Given the description of an element on the screen output the (x, y) to click on. 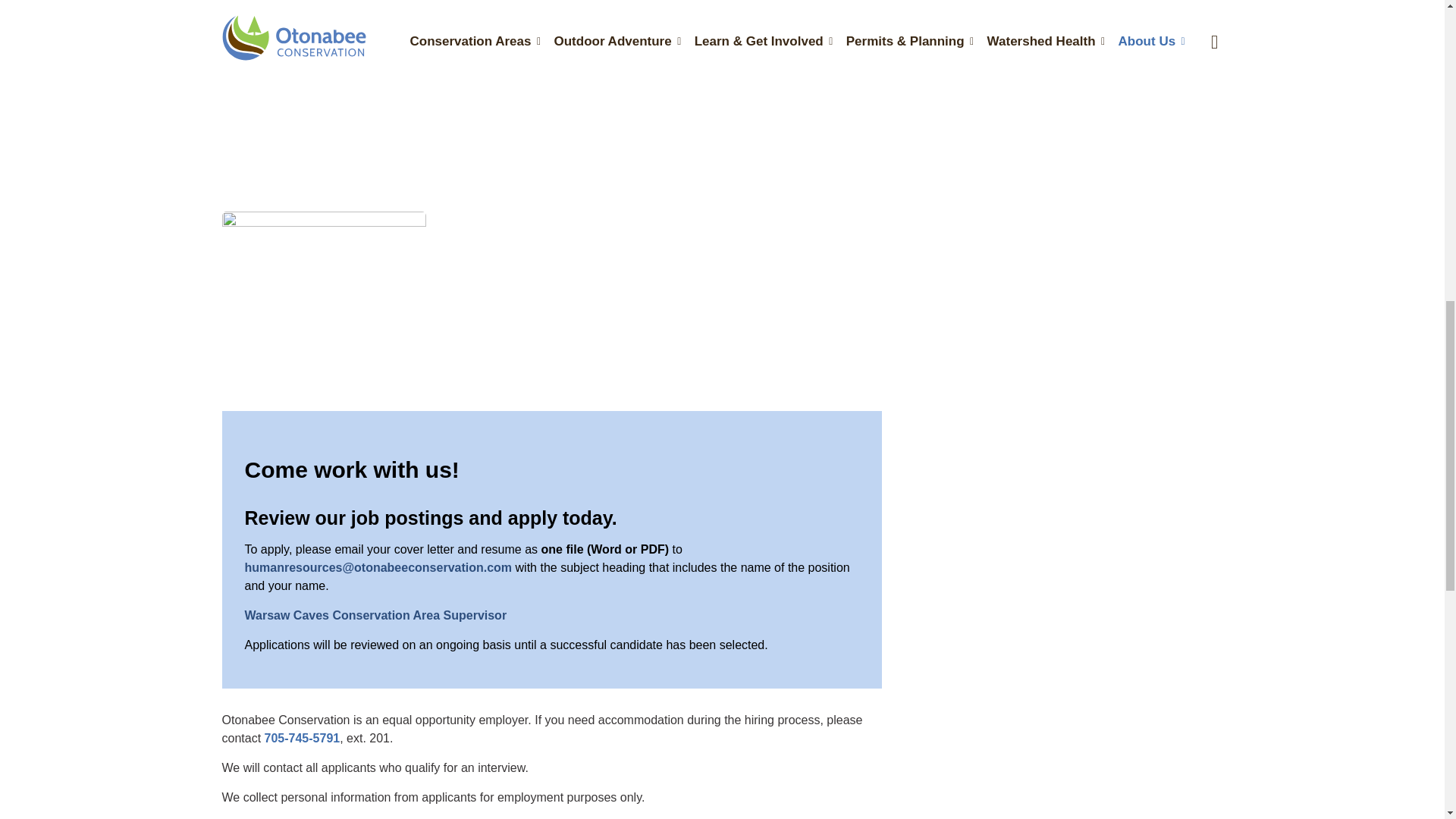
Call us (302, 738)
